Given the description of an element on the screen output the (x, y) to click on. 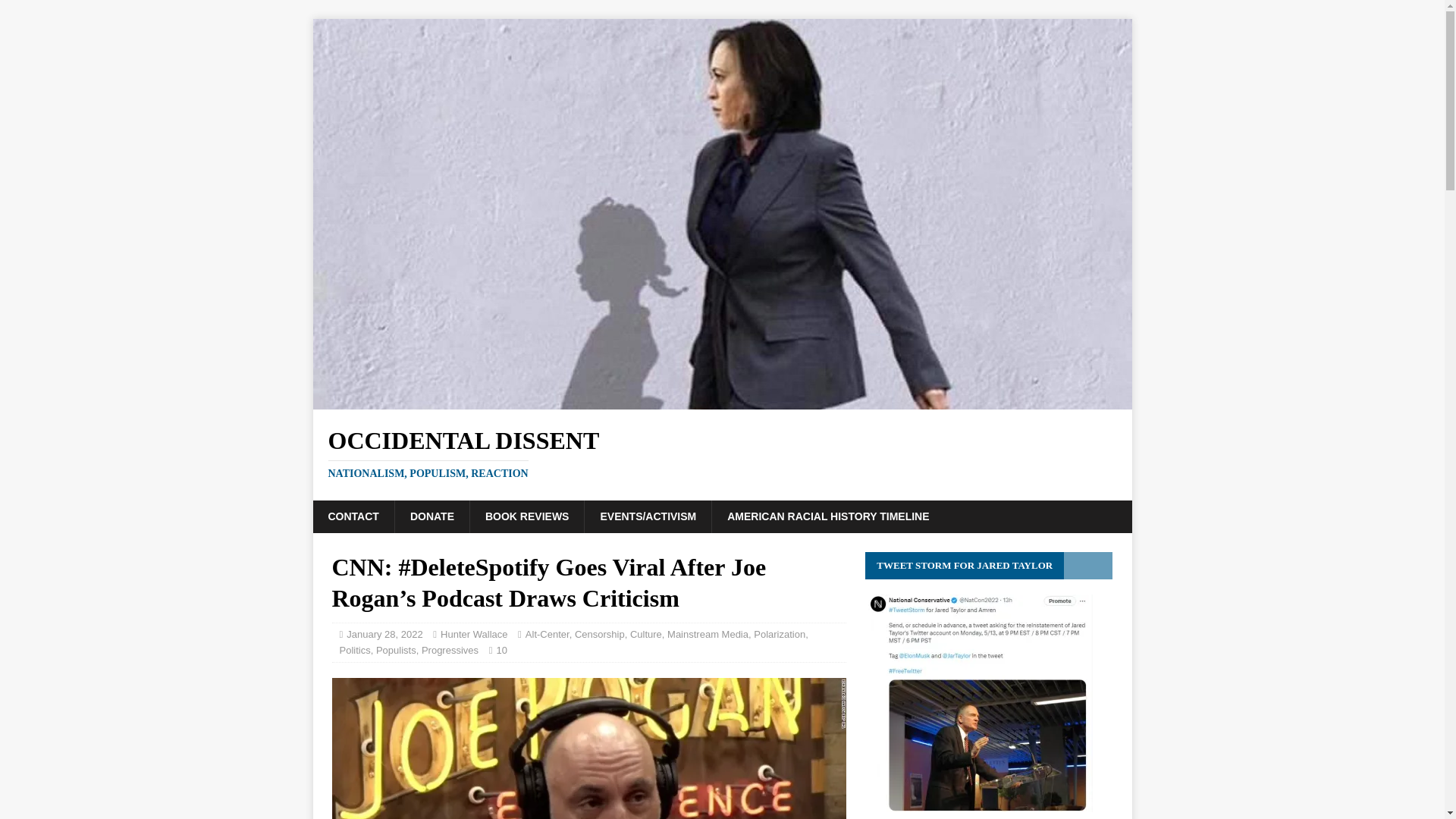
DONATE (431, 516)
Culture (646, 633)
Hunter Wallace (473, 633)
BOOK REVIEWS (525, 516)
Censorship (599, 633)
Occidental Dissent (721, 453)
CONTACT (353, 516)
AMERICAN RACIAL HISTORY TIMELINE (721, 453)
Occidental Dissent (827, 516)
Polarization (722, 399)
Alt-Center (779, 633)
Mainstream Media (547, 633)
10 (707, 633)
